Given the description of an element on the screen output the (x, y) to click on. 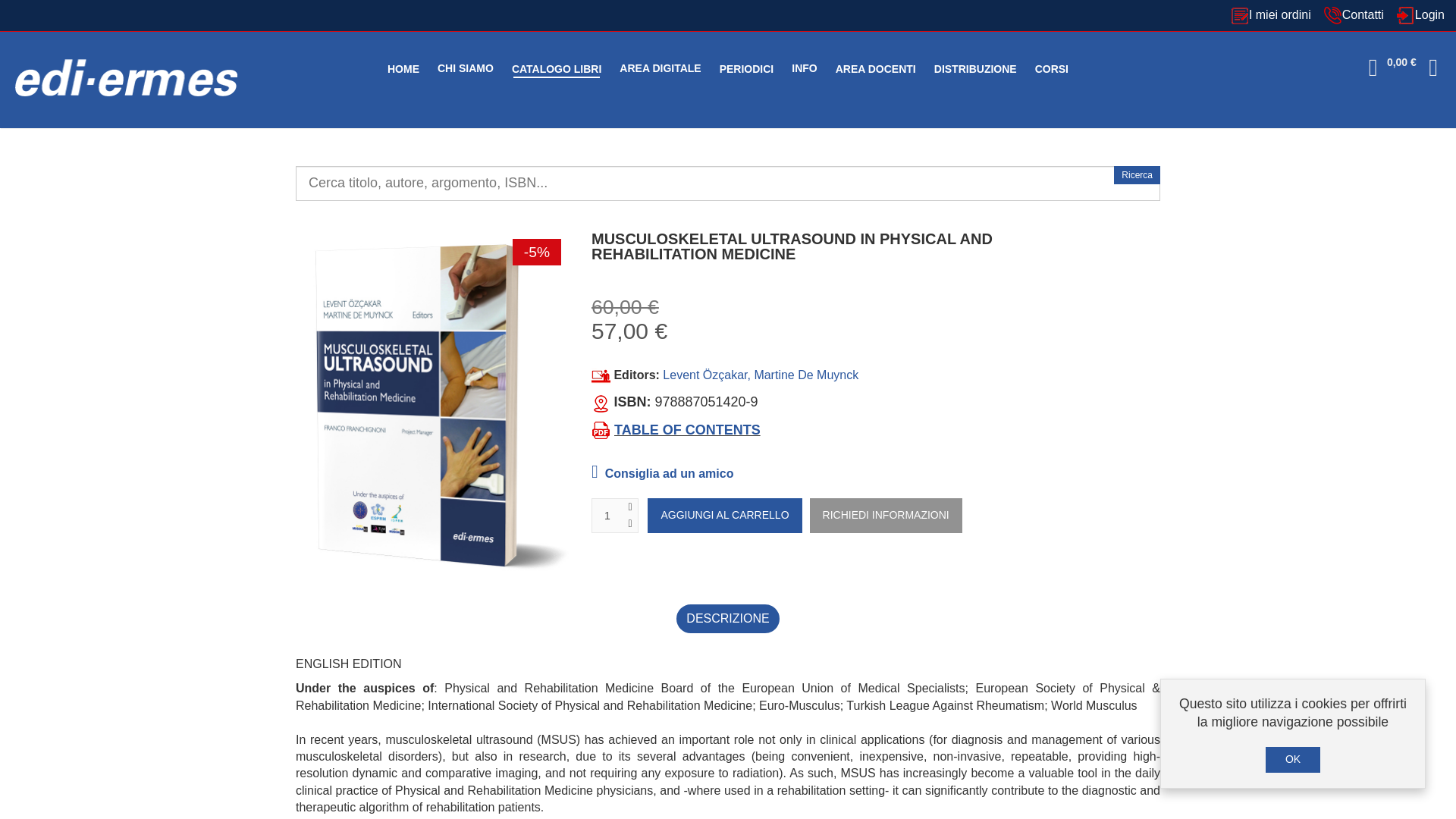
Contatti (1353, 15)
DOVE SIAMO (1436, 71)
Aggiungi al carrello (724, 515)
HOME (403, 68)
Aggiungi al carrello (724, 515)
Richiedi informazioni (885, 515)
Consiglia ad un amico (662, 472)
Login (1417, 15)
I miei ordini (1273, 15)
1 (607, 515)
